Given the description of an element on the screen output the (x, y) to click on. 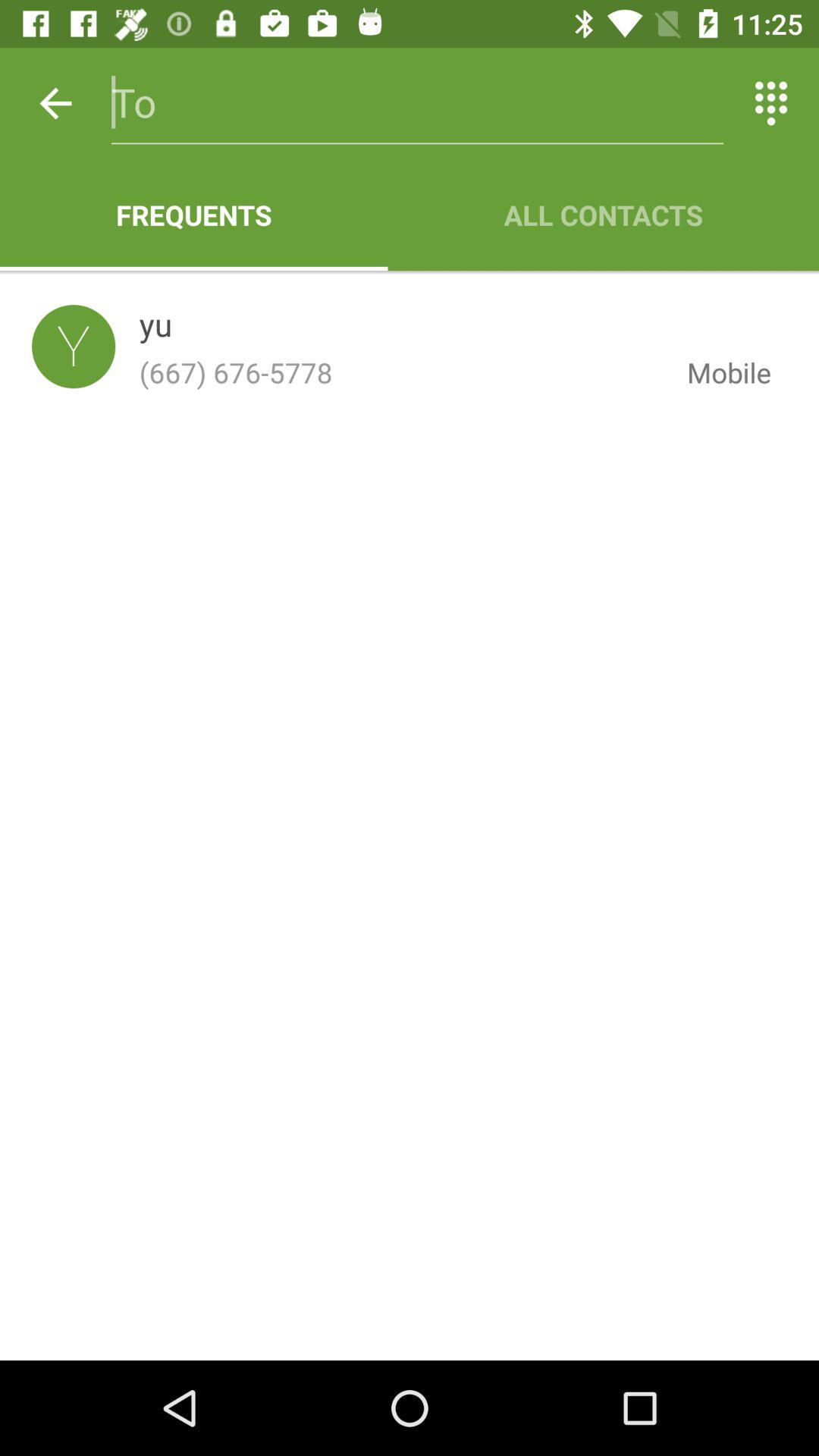
select the (667) 676-5778 item (401, 372)
